Given the description of an element on the screen output the (x, y) to click on. 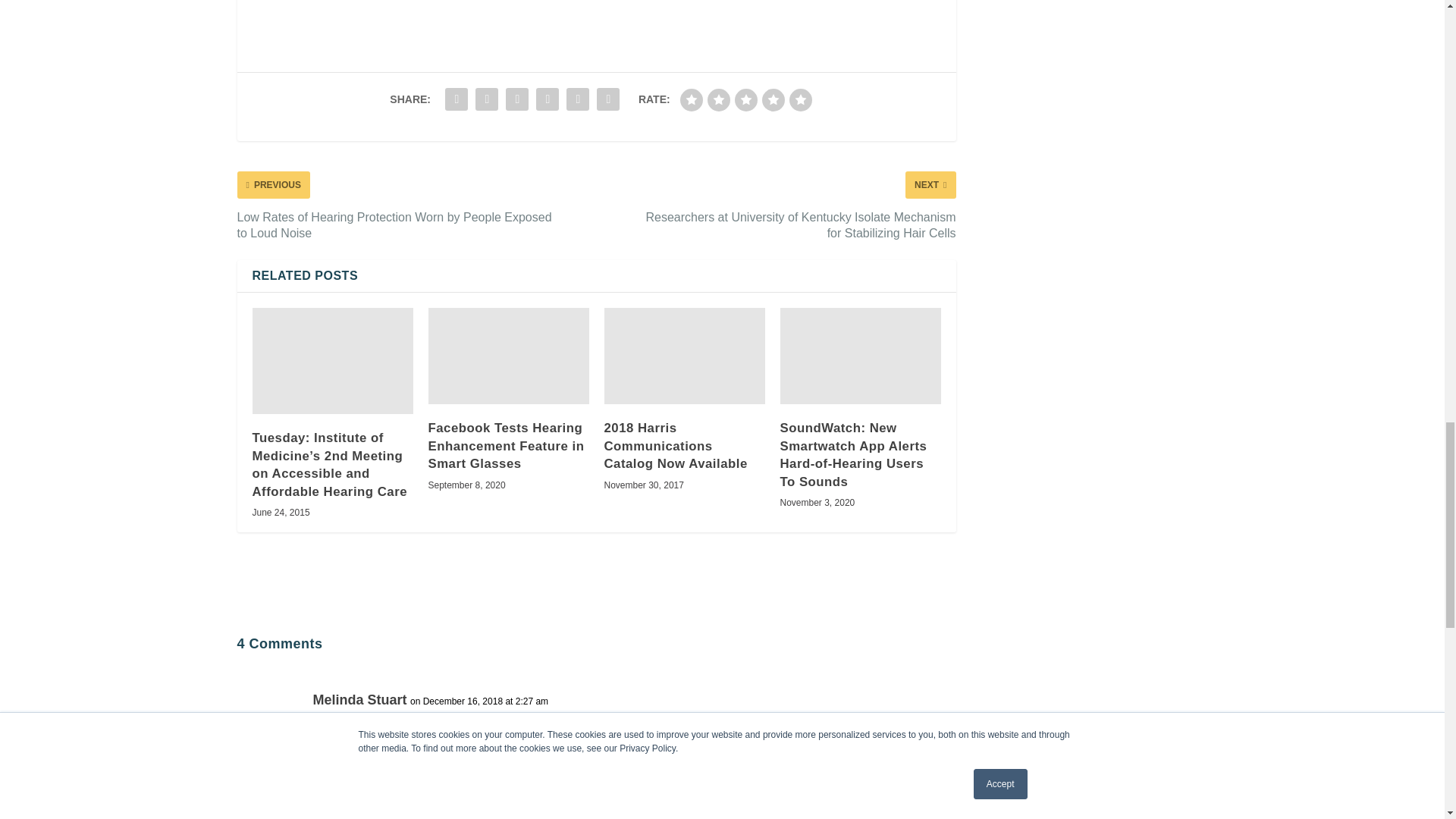
poor (718, 99)
regular (746, 99)
bad (691, 99)
